Given the description of an element on the screen output the (x, y) to click on. 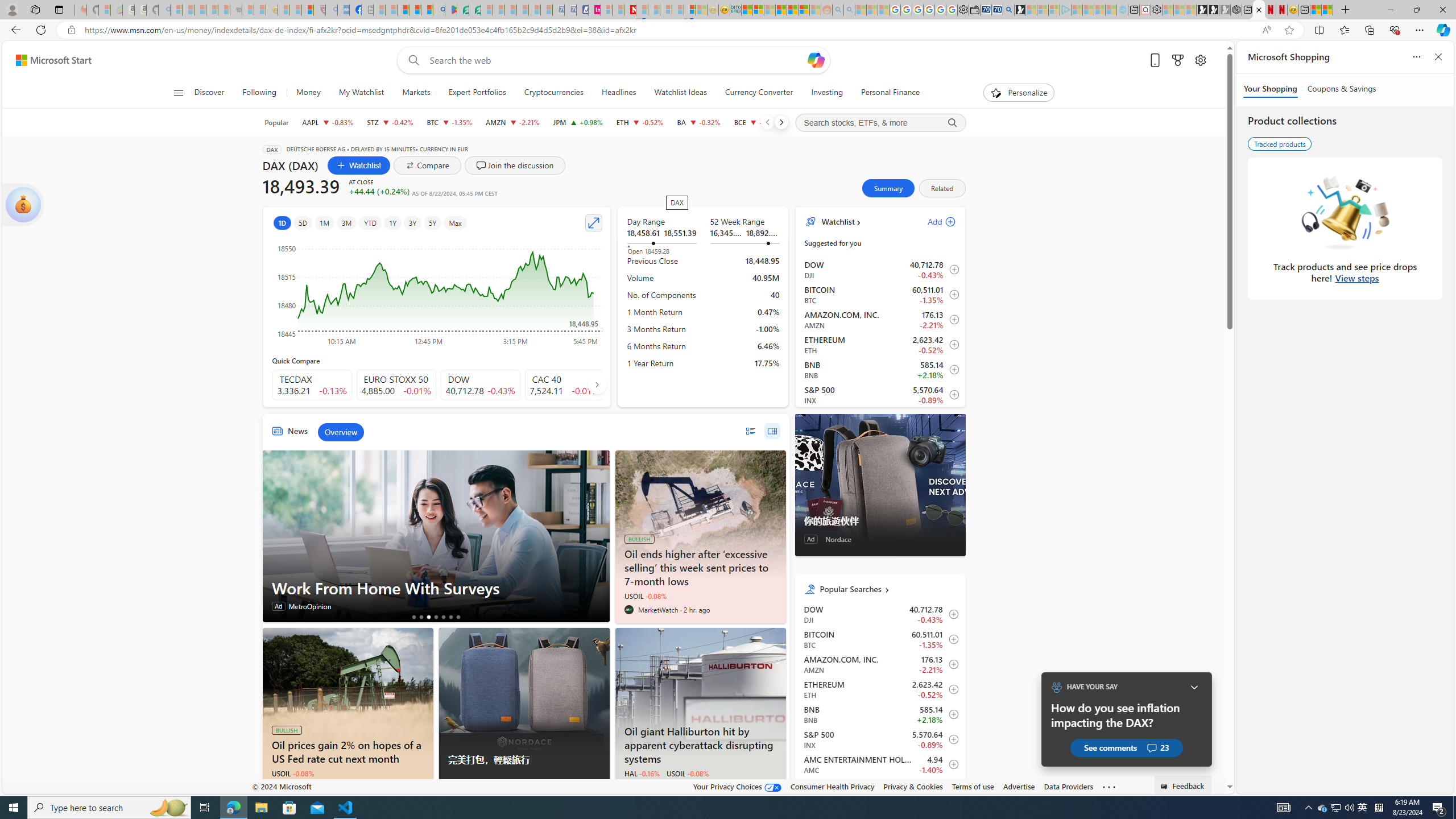
Reuters (275, 786)
ETH Ethereum decrease 2,623.42 -13.69 -0.52% item3 (880, 344)
YTD (369, 223)
